Given the description of an element on the screen output the (x, y) to click on. 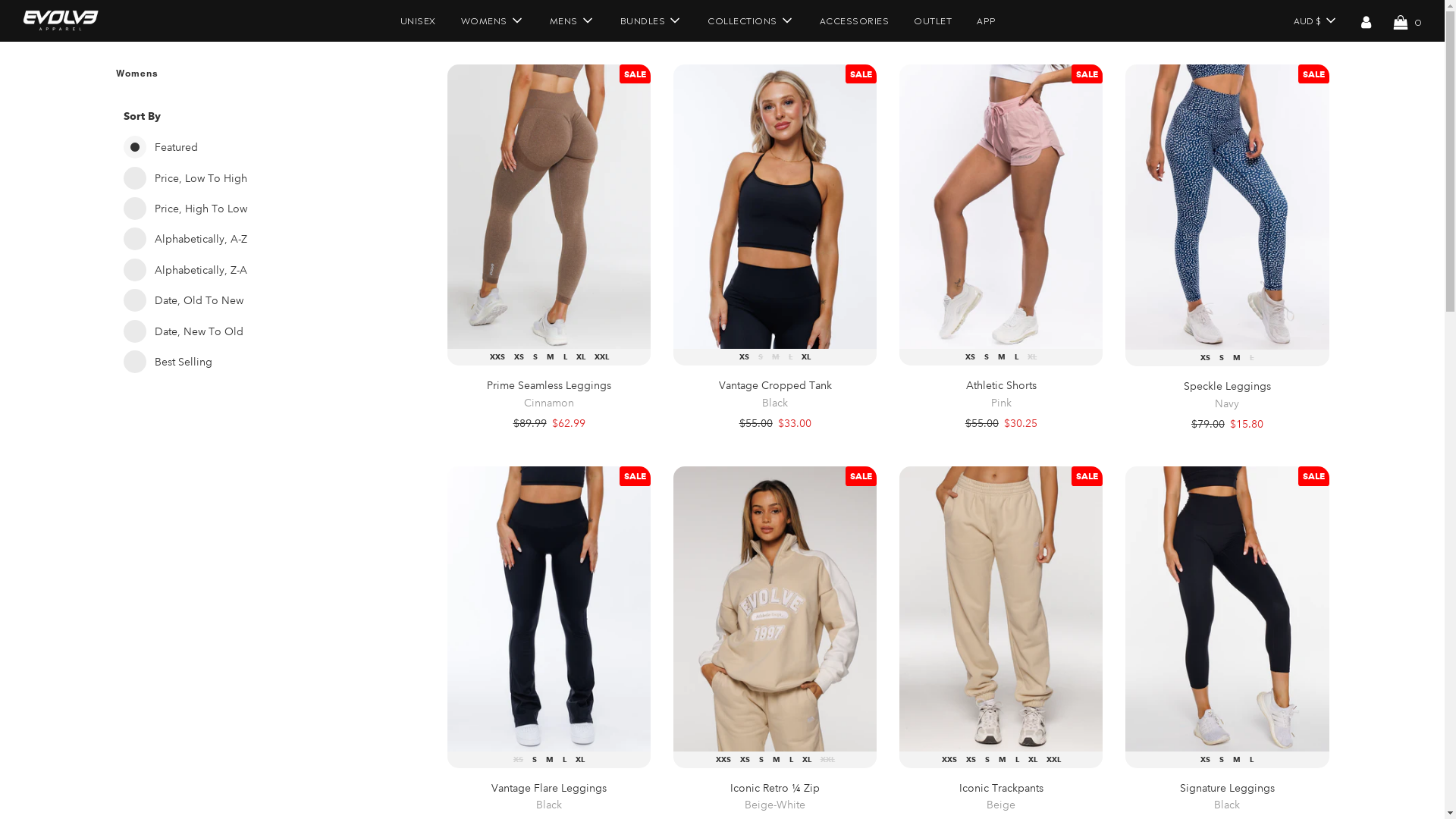
UNISEX Element type: text (417, 19)
MENS Element type: text (572, 20)
Vantage Cropped Tank - Black Element type: hover (774, 206)
Speckle Leggings
Navy Element type: text (1226, 395)
Signature Leggings
Black Element type: text (1226, 797)
APP Element type: text (986, 19)
Regular price
$79.00 $15.80 Element type: text (1227, 423)
Vantage Flare Leggings
Black Element type: text (548, 797)
SALE Element type: text (1313, 73)
Regular price
$55.00 $33.00 Element type: text (775, 422)
SALE Element type: text (1086, 475)
Iconic Trackpants
Beige Element type: text (1000, 797)
0 Element type: text (1407, 20)
Iconic Trackpants - Beige Element type: hover (1000, 608)
Speckle Leggings - Navy Element type: hover (1226, 206)
COLLECTIONS Element type: text (751, 20)
Vantage Flare Leggings - Black Element type: hover (548, 608)
Athletic Shorts - Pink Element type: hover (1000, 206)
WOMENS Element type: text (491, 20)
Vantage Cropped Tank
Black Element type: text (774, 394)
Signature Leggings - Black Element type: hover (1226, 608)
SALE Element type: text (860, 475)
SALE Element type: text (1313, 475)
SALE Element type: text (634, 73)
Regular price
$55.00 $30.25 Element type: text (1001, 422)
Log in Element type: hover (1366, 20)
OUTLET Element type: text (932, 19)
Prime Seamless Leggings
Cinnamon Element type: text (548, 394)
AUD $ Element type: text (1313, 20)
BUNDLES Element type: text (650, 20)
Athletic Shorts
Pink Element type: text (1000, 394)
ACCESSORIES Element type: text (854, 19)
SALE Element type: text (1086, 73)
SALE Element type: text (860, 73)
Regular price
$89.99 $62.99 Element type: text (549, 422)
Prime Seamless Leggings - Cinnamon Element type: hover (548, 206)
SALE Element type: text (634, 475)
